Given the description of an element on the screen output the (x, y) to click on. 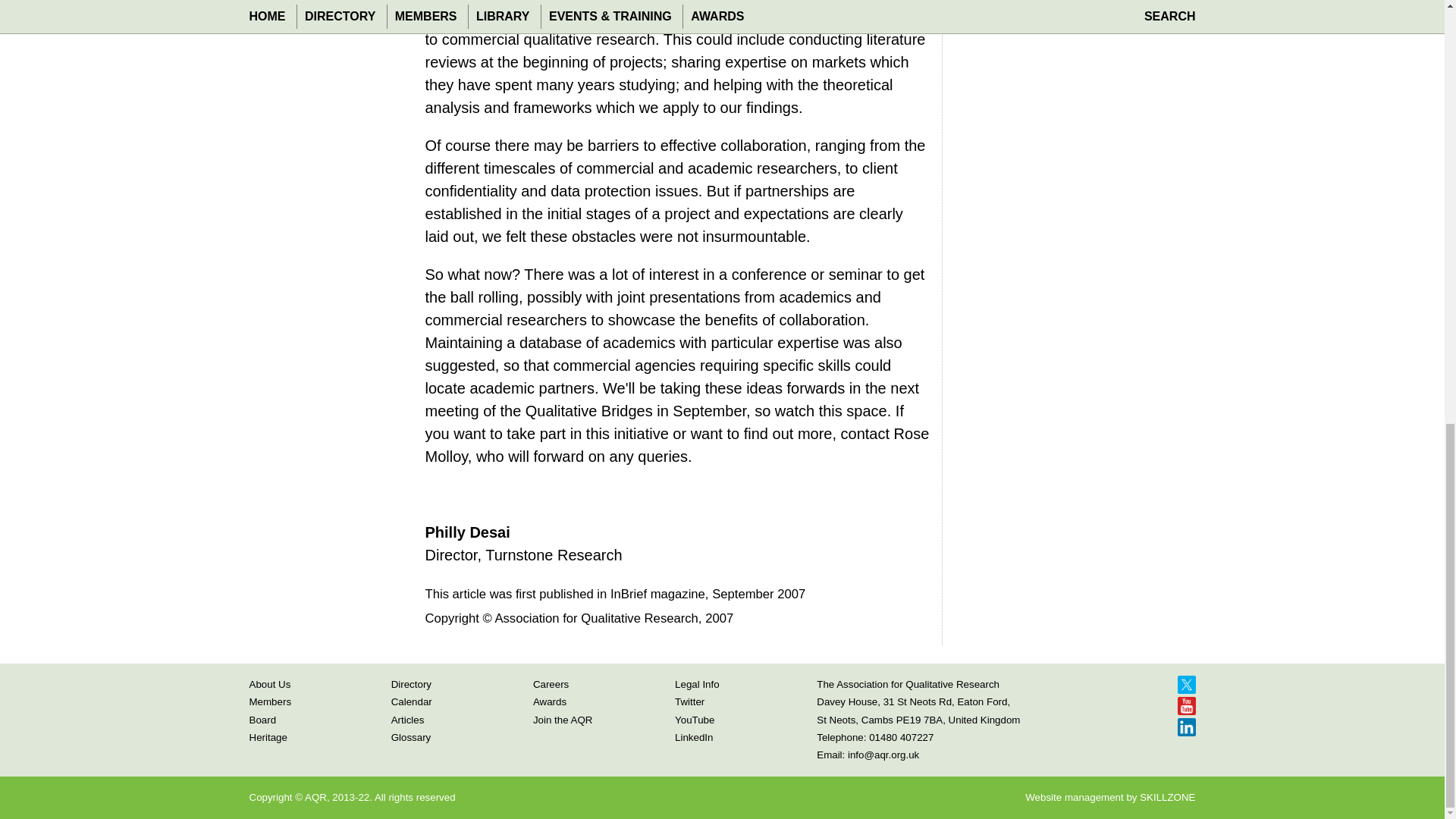
Niche challenge (998, 27)
Heritage (267, 737)
Directory (410, 684)
Board (262, 719)
Members (269, 701)
Calendar (411, 701)
About Us (268, 684)
